Given the description of an element on the screen output the (x, y) to click on. 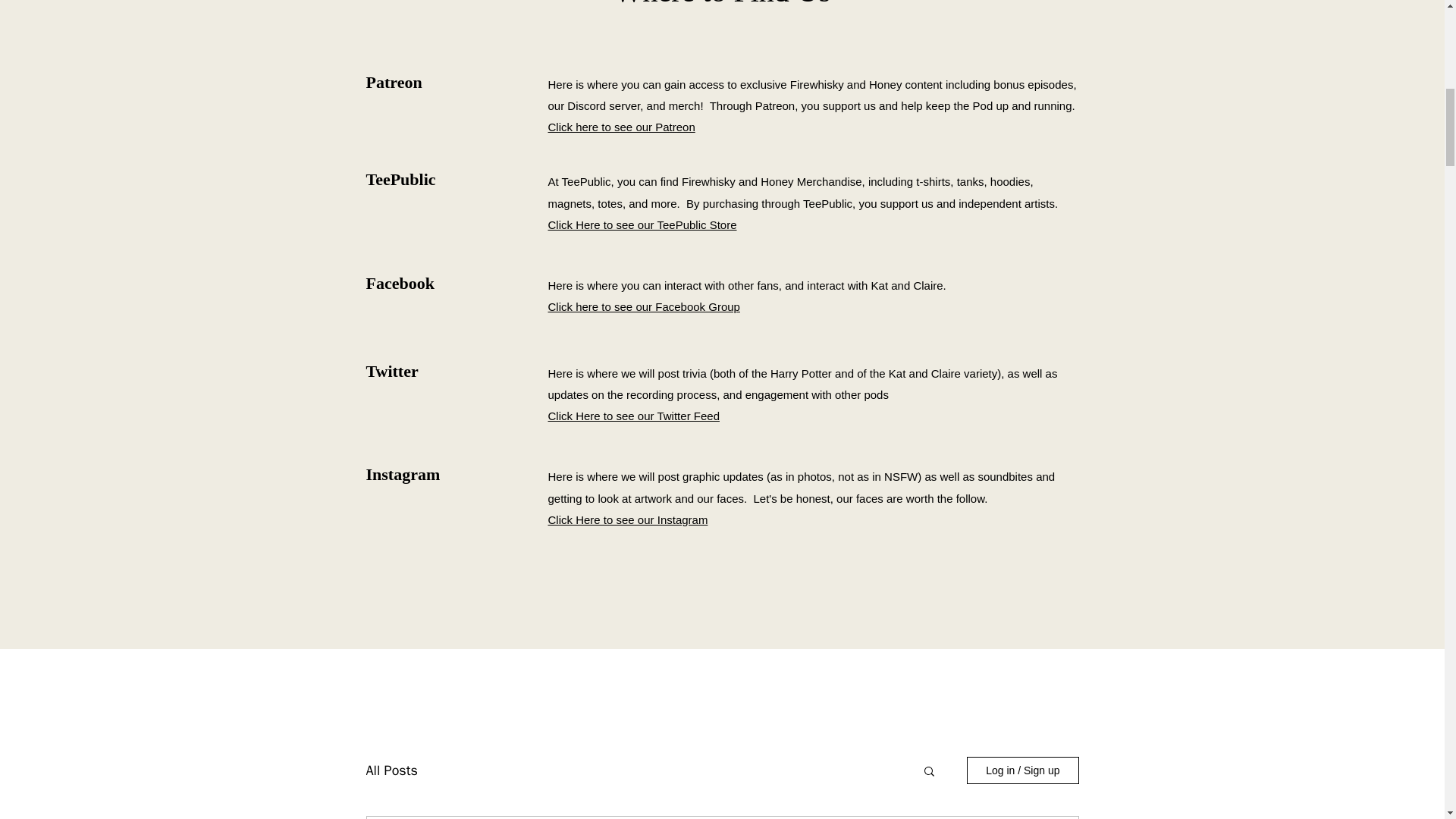
All Posts (390, 770)
Click here to see our Patreon (620, 126)
Click Here to see our TeePublic Store (641, 224)
Patreon (393, 81)
Facebook (399, 282)
Click Here to see our Twitter Feed (633, 415)
Click here to see our Facebook Group (643, 306)
Click Here to see our Instagram (627, 519)
Twitter (391, 370)
Instagram (402, 474)
